Given the description of an element on the screen output the (x, y) to click on. 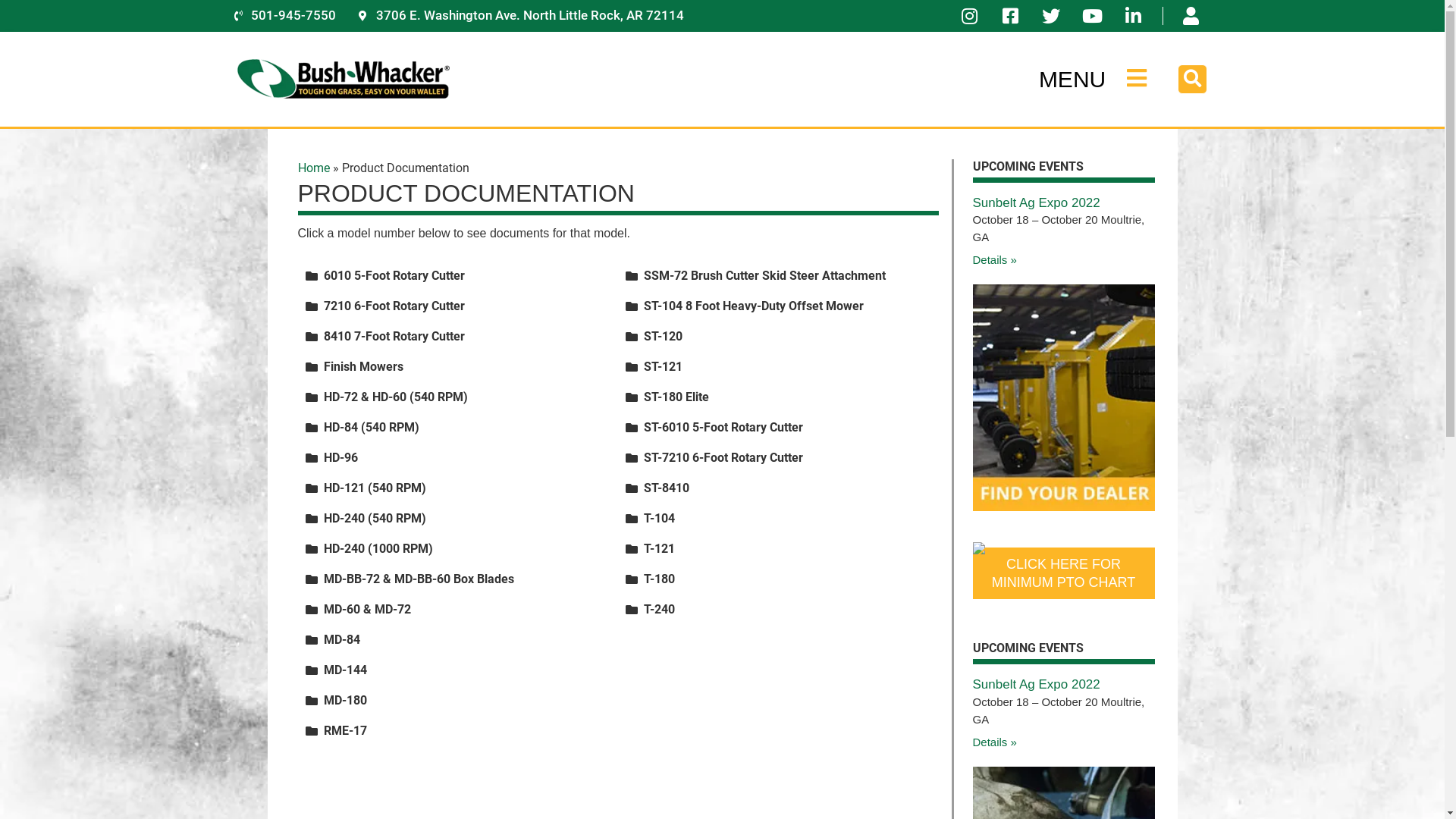
T-121 Element type: text (658, 548)
6010 5-Foot Rotary Cutter Element type: text (393, 275)
MD-BB-72 & MD-BB-60 Box Blades Element type: text (418, 578)
Sunbelt Ag Expo 2022 Element type: text (1035, 202)
HD-72 & HD-60 (540 RPM) Element type: text (395, 396)
Sunbelt Ag Expo 2022 Element type: text (1035, 684)
T-104 Element type: text (658, 518)
ST-8410 Element type: text (666, 487)
HD-96 Element type: text (340, 457)
SSM-72 Brush Cutter Skid Steer Attachment Element type: text (764, 275)
T-240 Element type: text (658, 609)
ST-180 Elite Element type: text (676, 396)
ST-7210 6-Foot Rotary Cutter Element type: text (723, 457)
HD-84 (540 RPM) Element type: text (370, 427)
Home Element type: text (313, 167)
MD-84 Element type: text (341, 639)
ST-104 8 Foot Heavy-Duty Offset Mower Element type: text (753, 305)
7210 6-Foot Rotary Cutter Element type: text (393, 305)
HD-240 (1000 RPM) Element type: text (377, 548)
Finish Mowers Element type: text (362, 366)
8410 7-Foot Rotary Cutter Element type: text (393, 336)
RME-17 Element type: text (344, 730)
T-180 Element type: text (658, 578)
HD-240 (540 RPM) Element type: text (374, 518)
ST-121 Element type: text (662, 366)
MD-60 & MD-72 Element type: text (366, 609)
HD-121 (540 RPM) Element type: text (374, 487)
CLICK HERE FOR MINIMUM PTO CHART Element type: text (1063, 573)
ST-120 Element type: text (662, 336)
MD-180 Element type: text (344, 700)
ST-6010 5-Foot Rotary Cutter Element type: text (723, 427)
MD-144 Element type: text (344, 669)
